Given the description of an element on the screen output the (x, y) to click on. 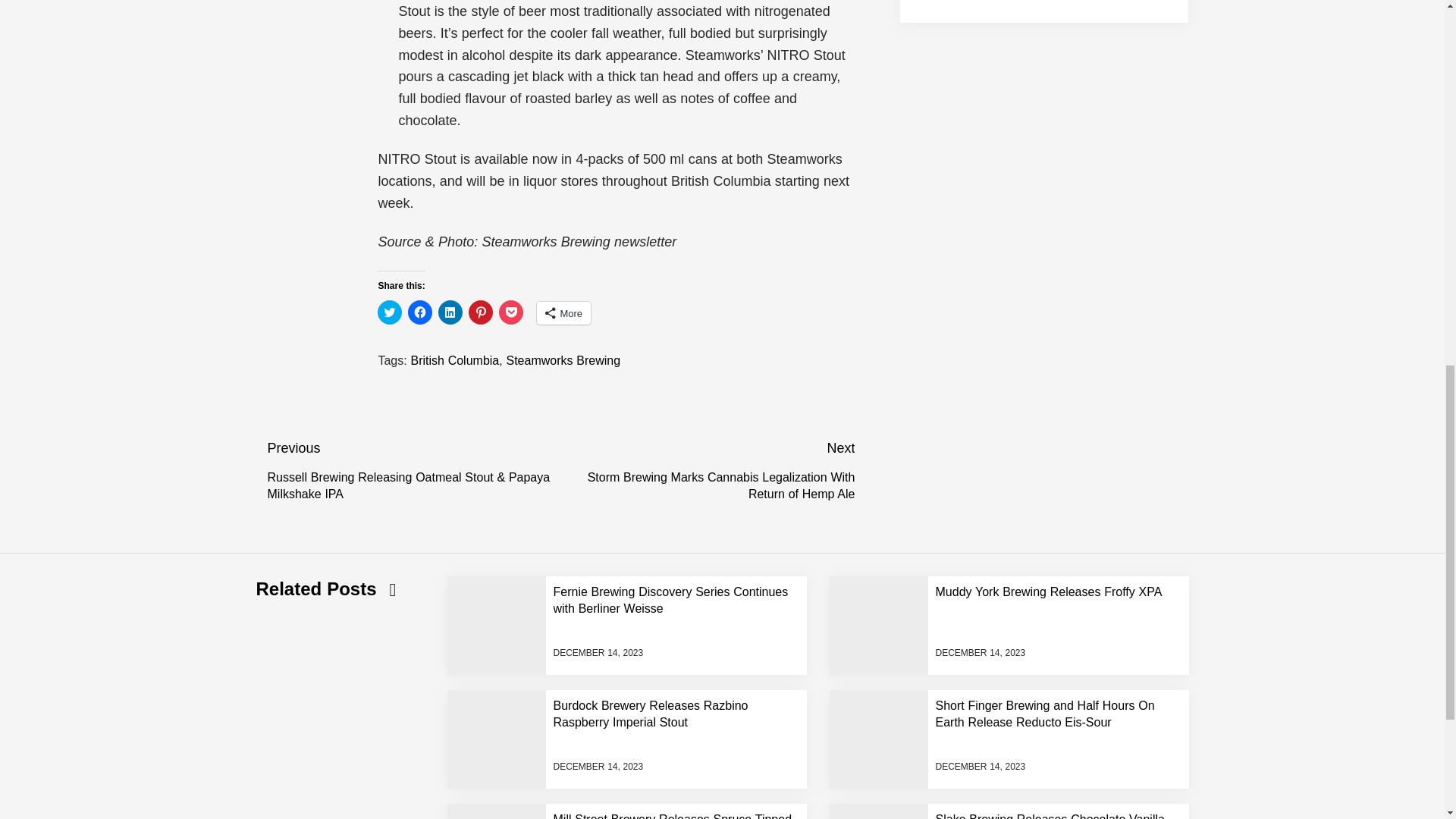
Click to share on Pocket (510, 312)
British Columbia (454, 359)
Click to share on Facebook (419, 312)
Click to share on Twitter (389, 312)
Click to share on Pinterest (480, 312)
Steamworks Brewing (562, 359)
More (564, 313)
Click to share on LinkedIn (450, 312)
